Given the description of an element on the screen output the (x, y) to click on. 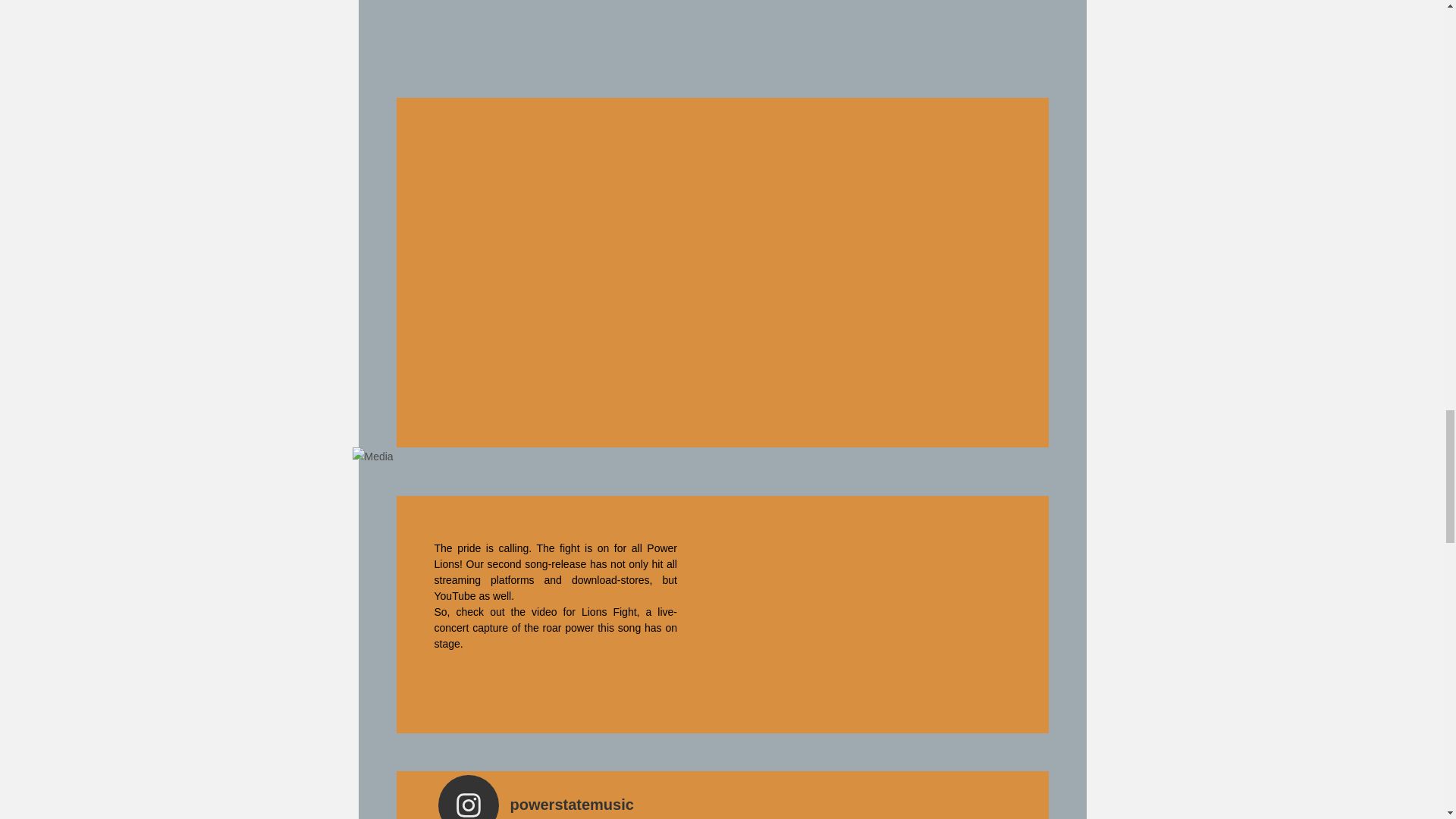
powerstatemusic (722, 796)
